Given the description of an element on the screen output the (x, y) to click on. 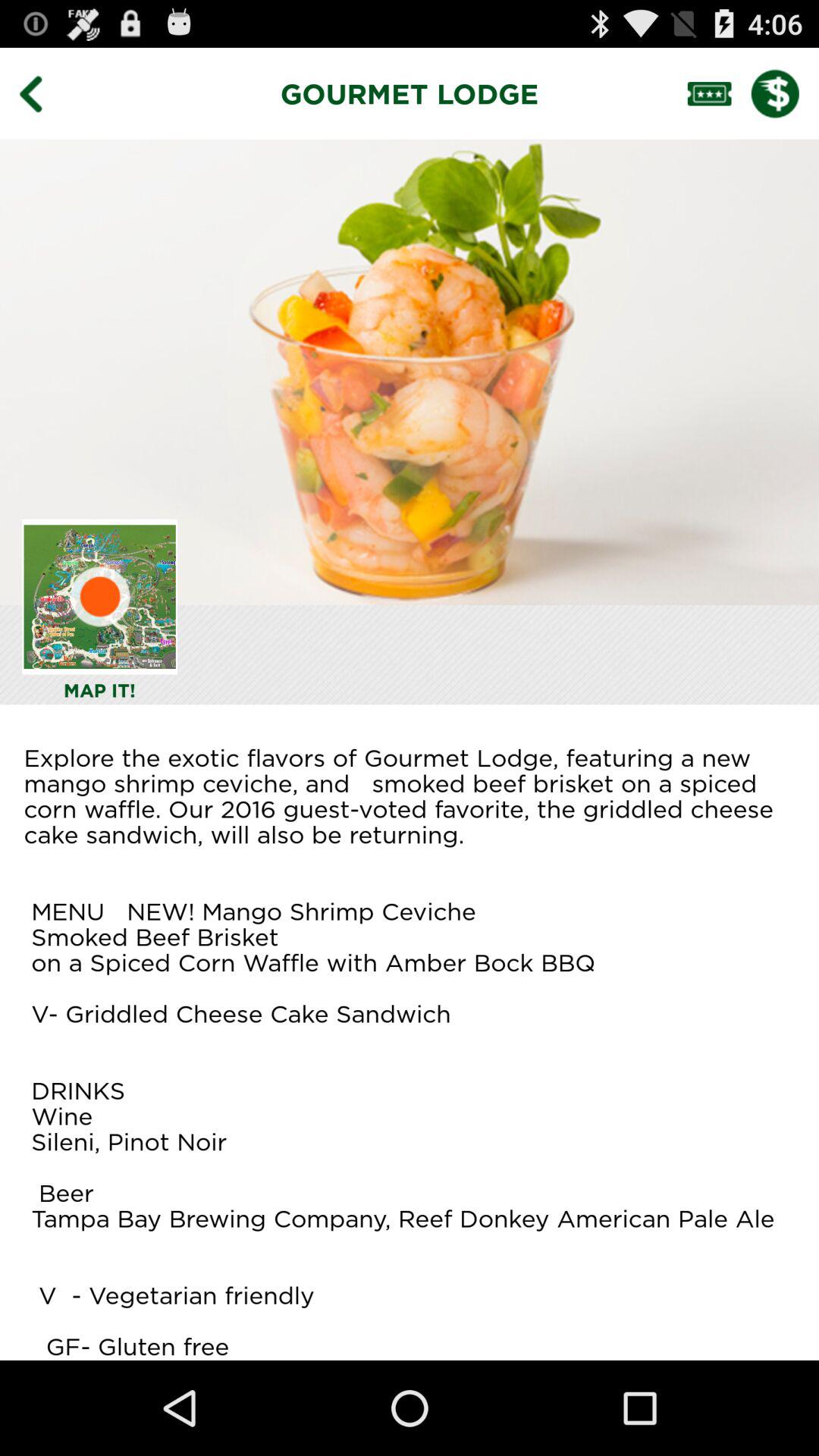
go to previous page (41, 93)
